Given the description of an element on the screen output the (x, y) to click on. 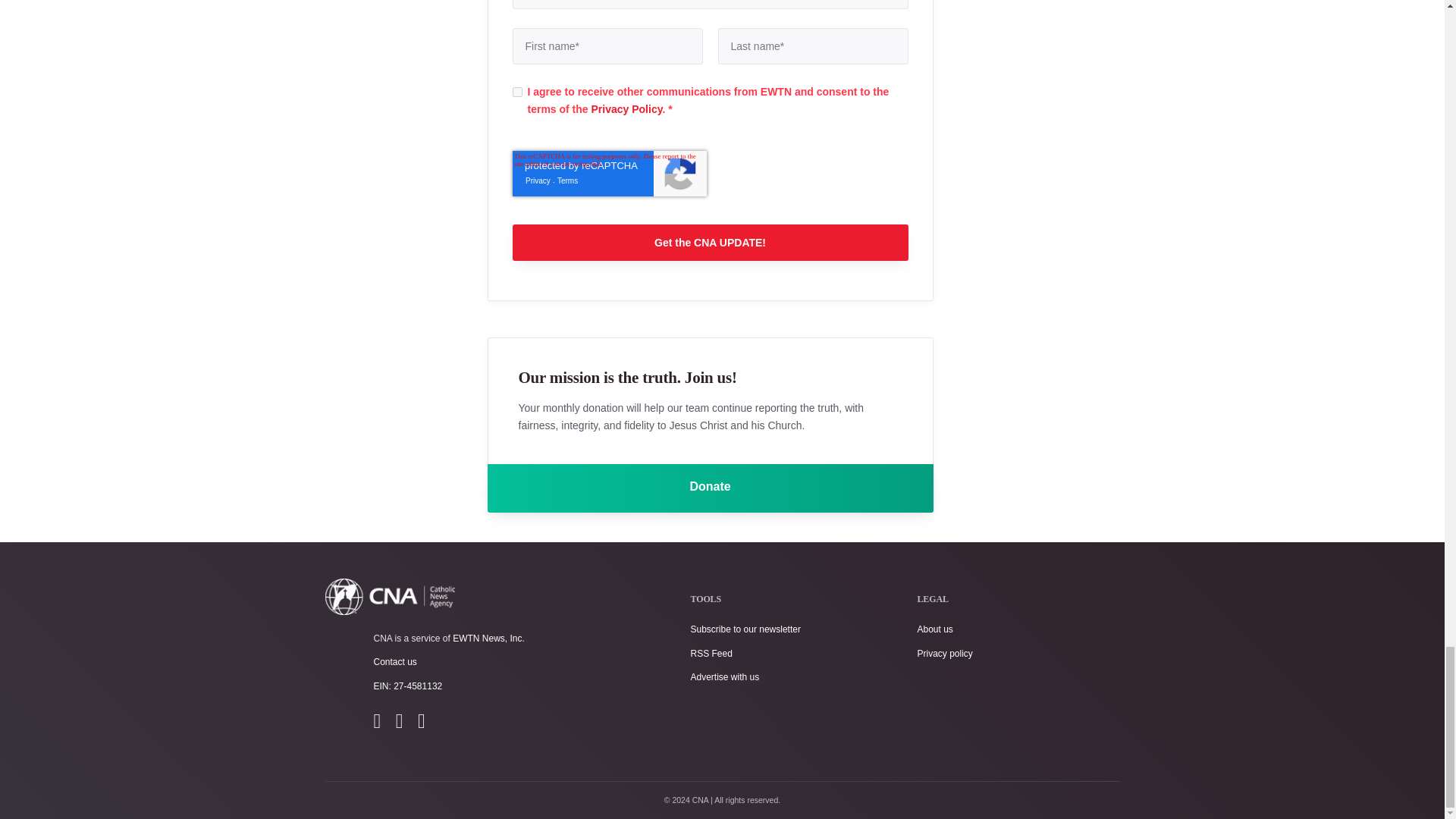
reCAPTCHA (609, 173)
true (517, 91)
Get the CNA UPDATE! (710, 242)
